Given the description of an element on the screen output the (x, y) to click on. 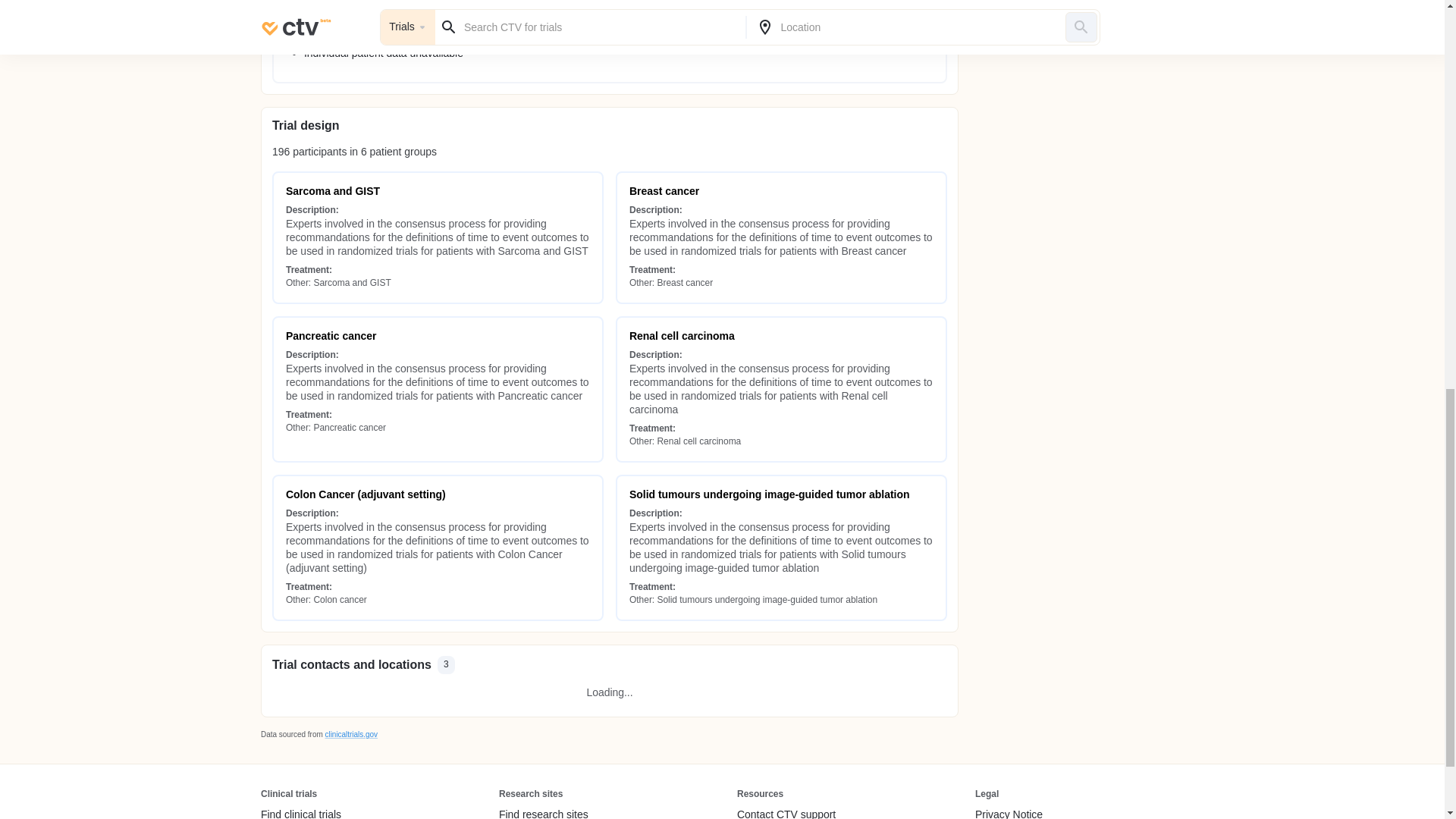
Contact CTV support (785, 813)
Find research sites (579, 813)
Find clinical trials (300, 813)
Privacy Notice (1008, 813)
clinicaltrials.gov (350, 734)
